Given the description of an element on the screen output the (x, y) to click on. 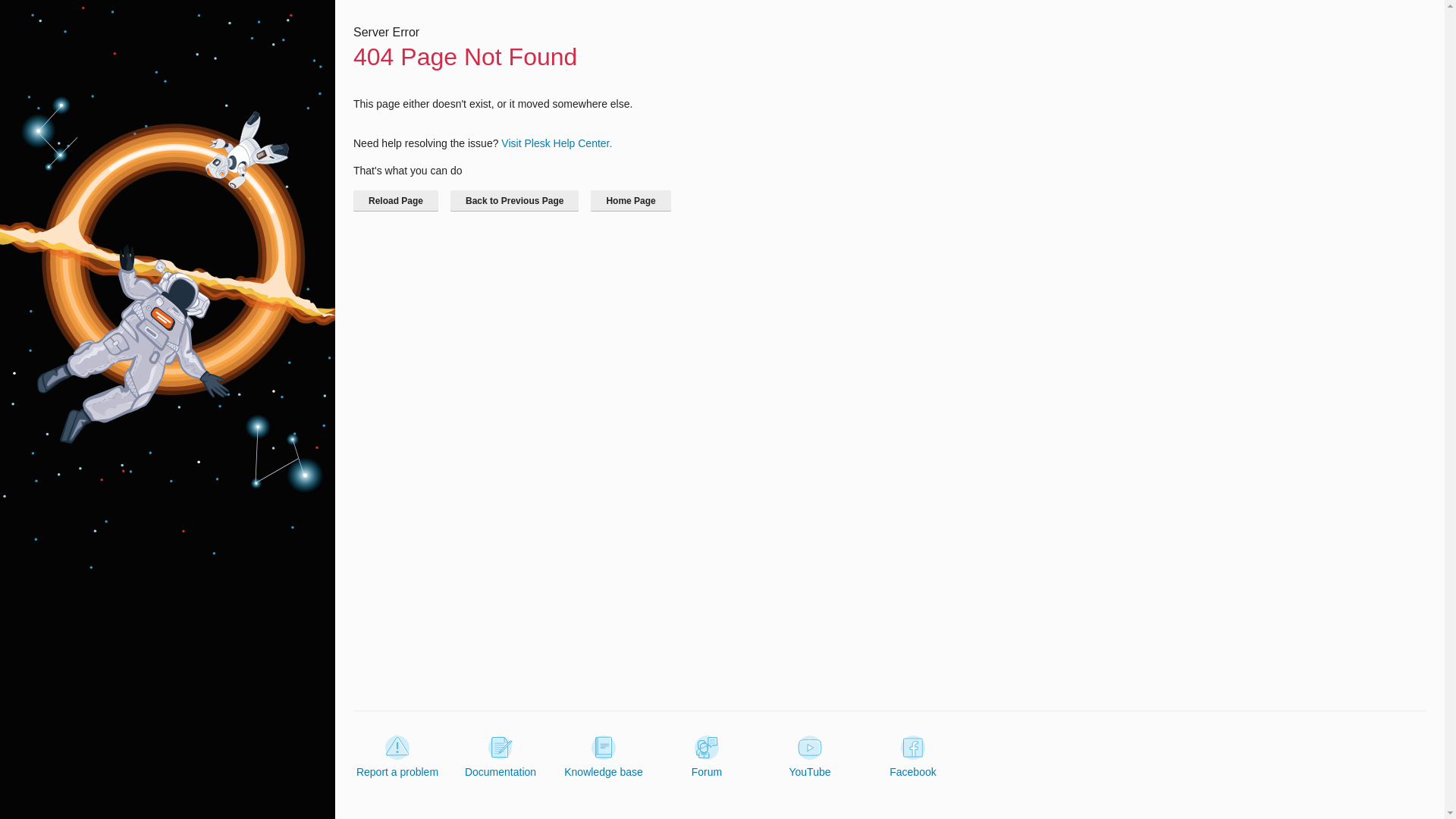
YouTube (809, 757)
Home Page (630, 200)
Visit Plesk Help Center. (555, 143)
Knowledge base (603, 757)
Back to Previous Page (513, 200)
Documentation (500, 757)
Report a problem (397, 757)
Forum (706, 757)
Facebook (912, 757)
Reload Page (395, 200)
